Given the description of an element on the screen output the (x, y) to click on. 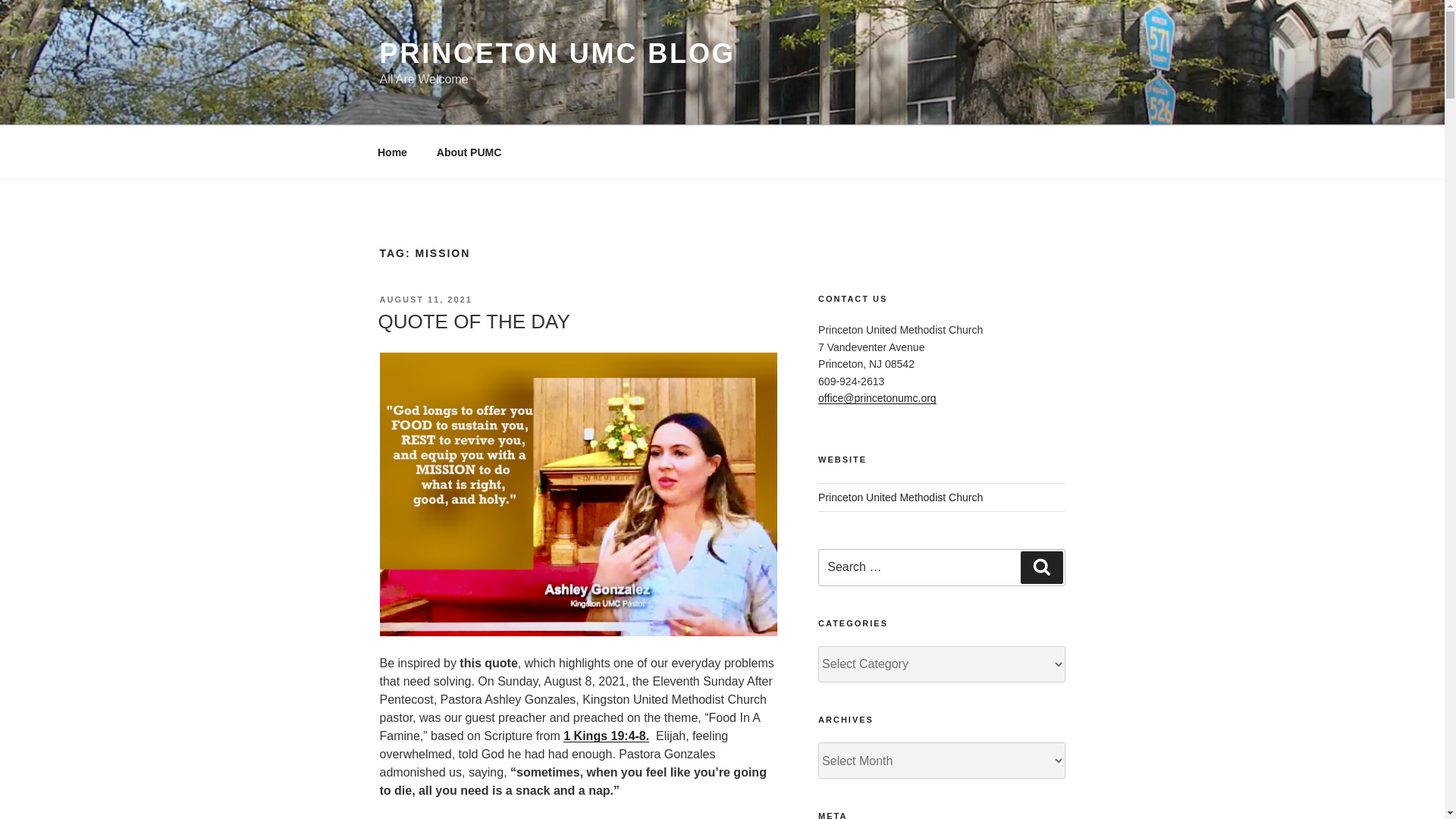
Home (392, 151)
AUGUST 11, 2021 (424, 298)
Princeton United Methodist Church (900, 497)
1 Kings 19:4-8. (606, 735)
PRINCETON UMC BLOG (556, 52)
QUOTE OF THE DAY (473, 321)
About PUMC (469, 151)
Search (1041, 567)
